Given the description of an element on the screen output the (x, y) to click on. 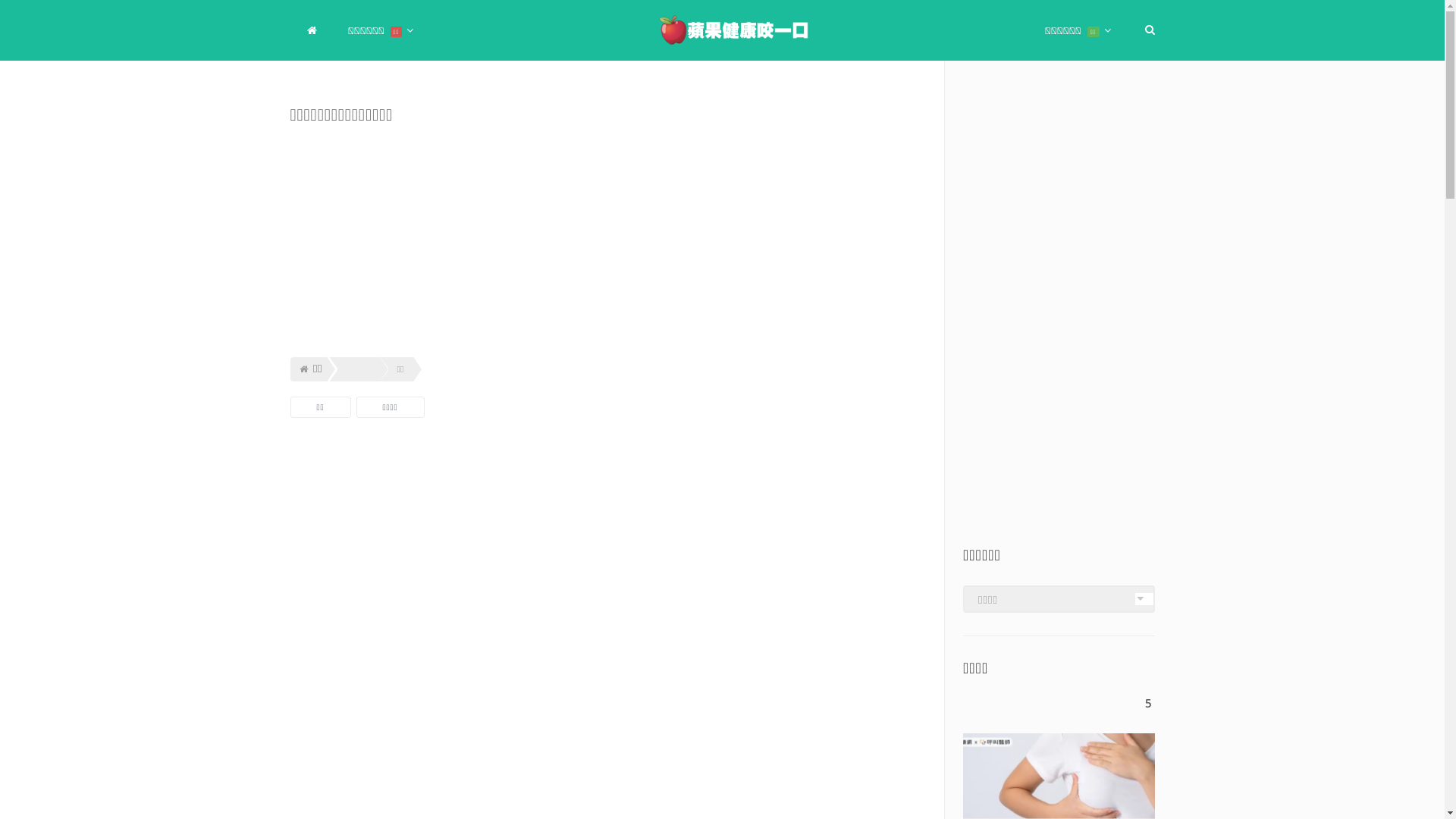
Advertisement Element type: hover (607, 240)
Advertisement Element type: hover (607, 530)
Advertisement Element type: hover (607, 718)
Advertisement Element type: hover (1058, 318)
